Given the description of an element on the screen output the (x, y) to click on. 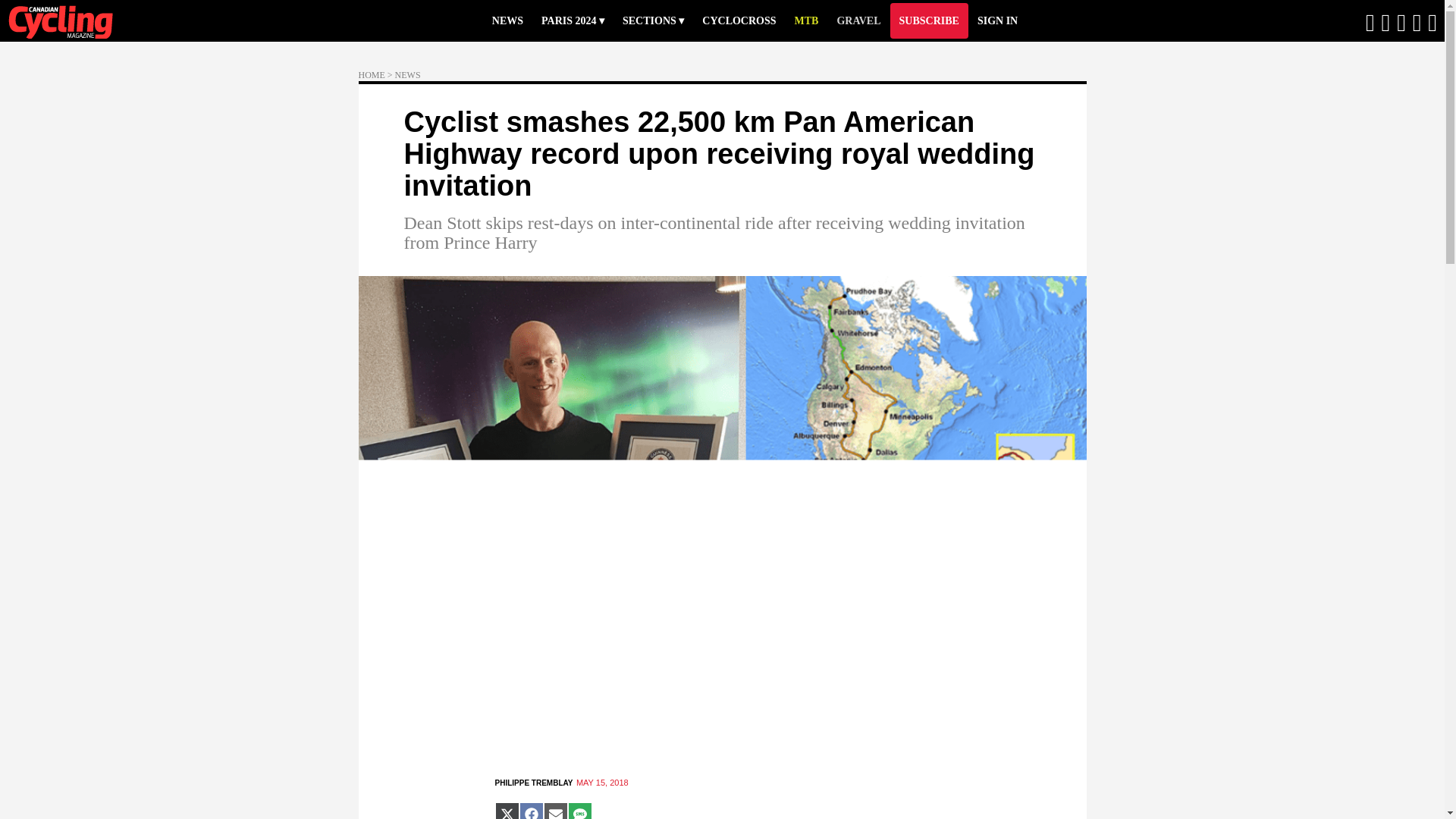
Share on SMS (579, 810)
GRAVEL (858, 20)
PHILIPPE TREMBLAY (533, 782)
CYCLOCROSS (738, 20)
NEWS (507, 20)
Share on Email (555, 810)
PARIS 2024 (572, 20)
Home (75, 20)
SECTIONS (652, 20)
